Given the description of an element on the screen output the (x, y) to click on. 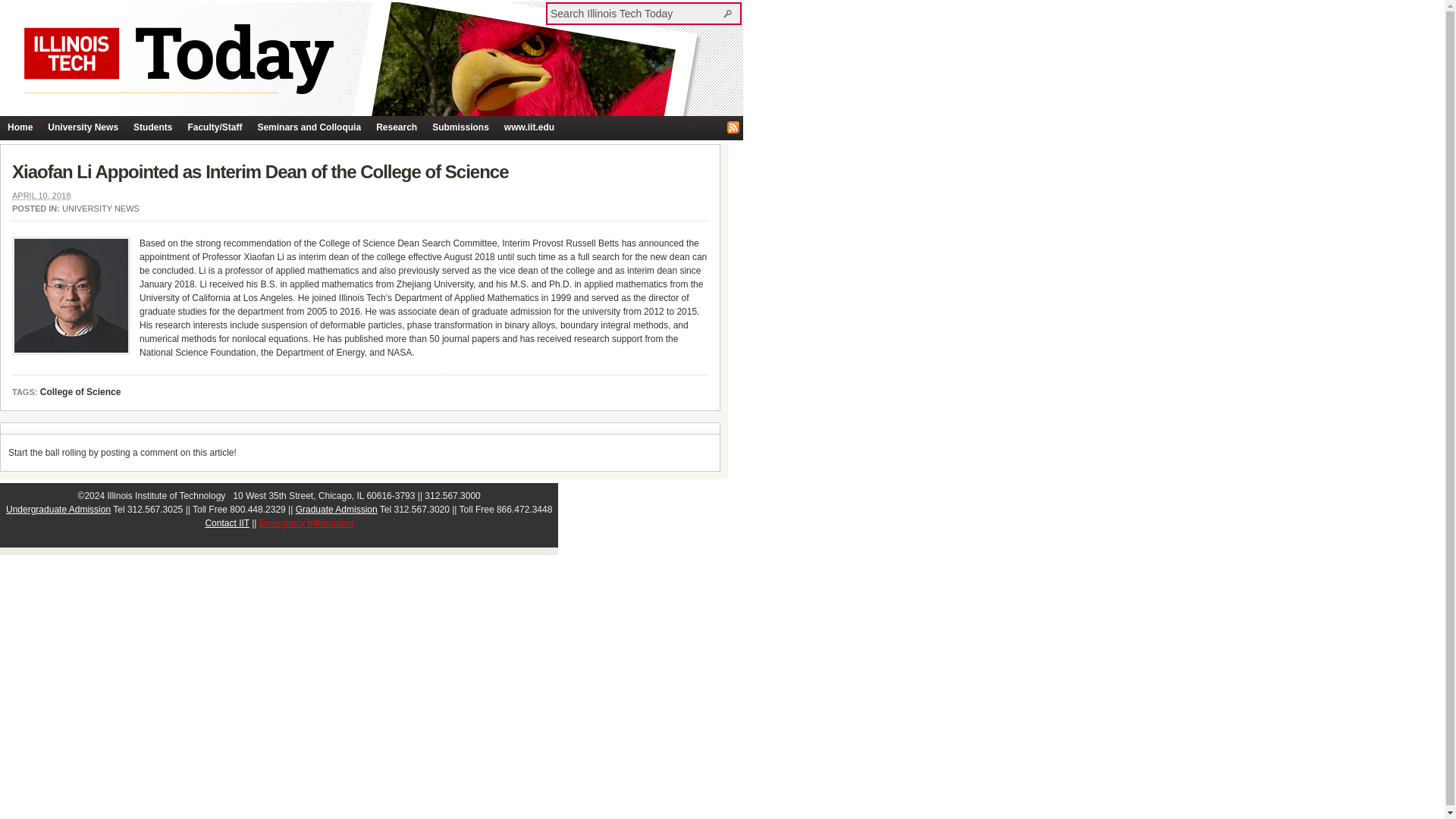
Seminars and Colloquia (308, 127)
Home (20, 127)
Search (729, 13)
Search Illinois Tech Today (636, 13)
Search (729, 13)
UNIVERSITY NEWS (100, 207)
www.iit.edu (529, 127)
Undergraduate Admission (57, 509)
Research (396, 127)
2018-04-10T07:00:22-05:00 (40, 194)
